Given the description of an element on the screen output the (x, y) to click on. 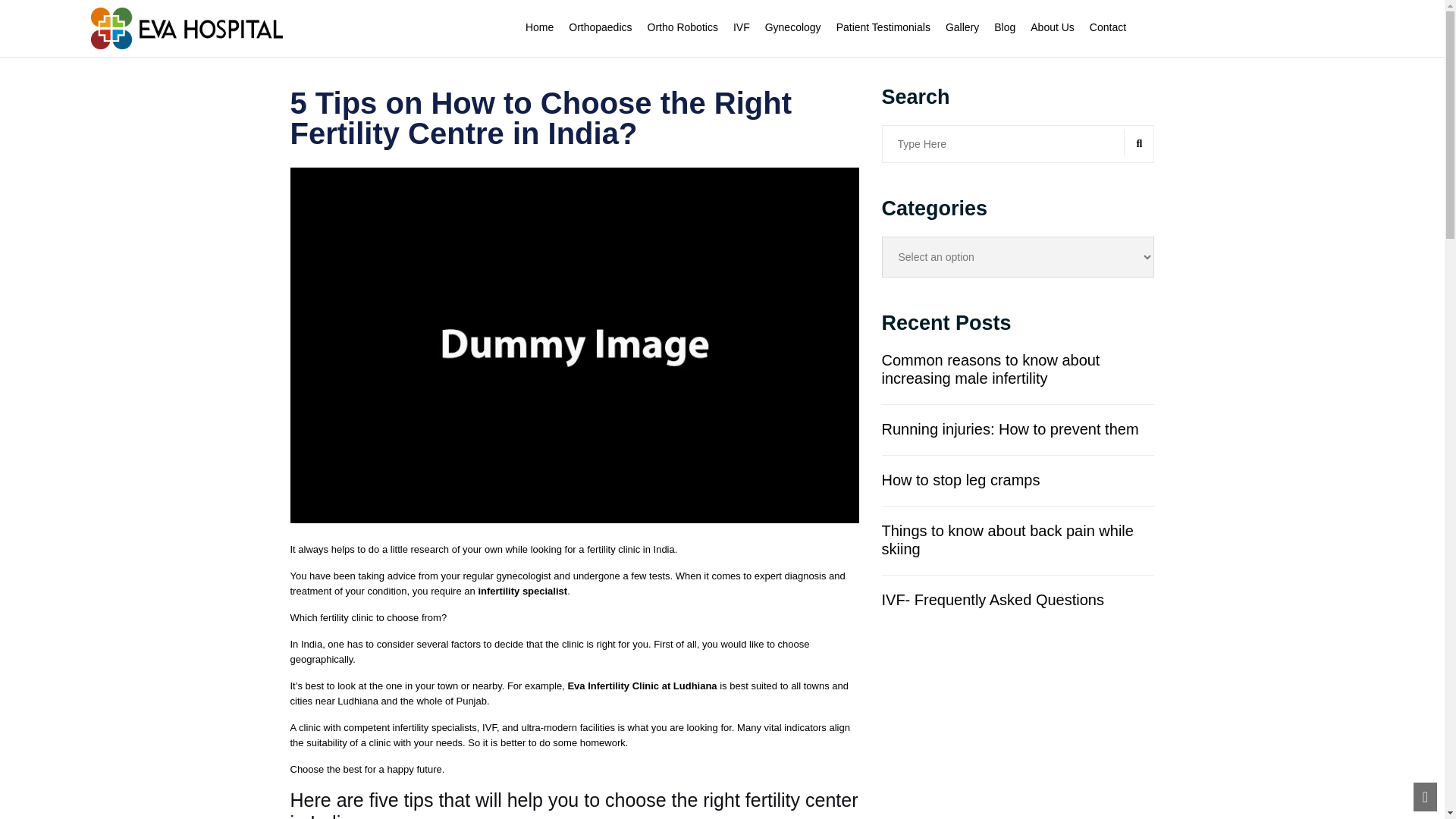
Orthopaedics (600, 28)
Gynecology (793, 28)
infertility specialist (522, 591)
Orthopaedics (600, 28)
Ortho Robotics (682, 28)
Patient Testimonials (882, 28)
Ortho robotics (682, 28)
Eva Infertility Clinic at Ludhiana (641, 685)
Gynecology (793, 28)
Eva Hospital (186, 28)
About us (1052, 28)
About Us (1052, 28)
Patient testimonials (882, 28)
